Given the description of an element on the screen output the (x, y) to click on. 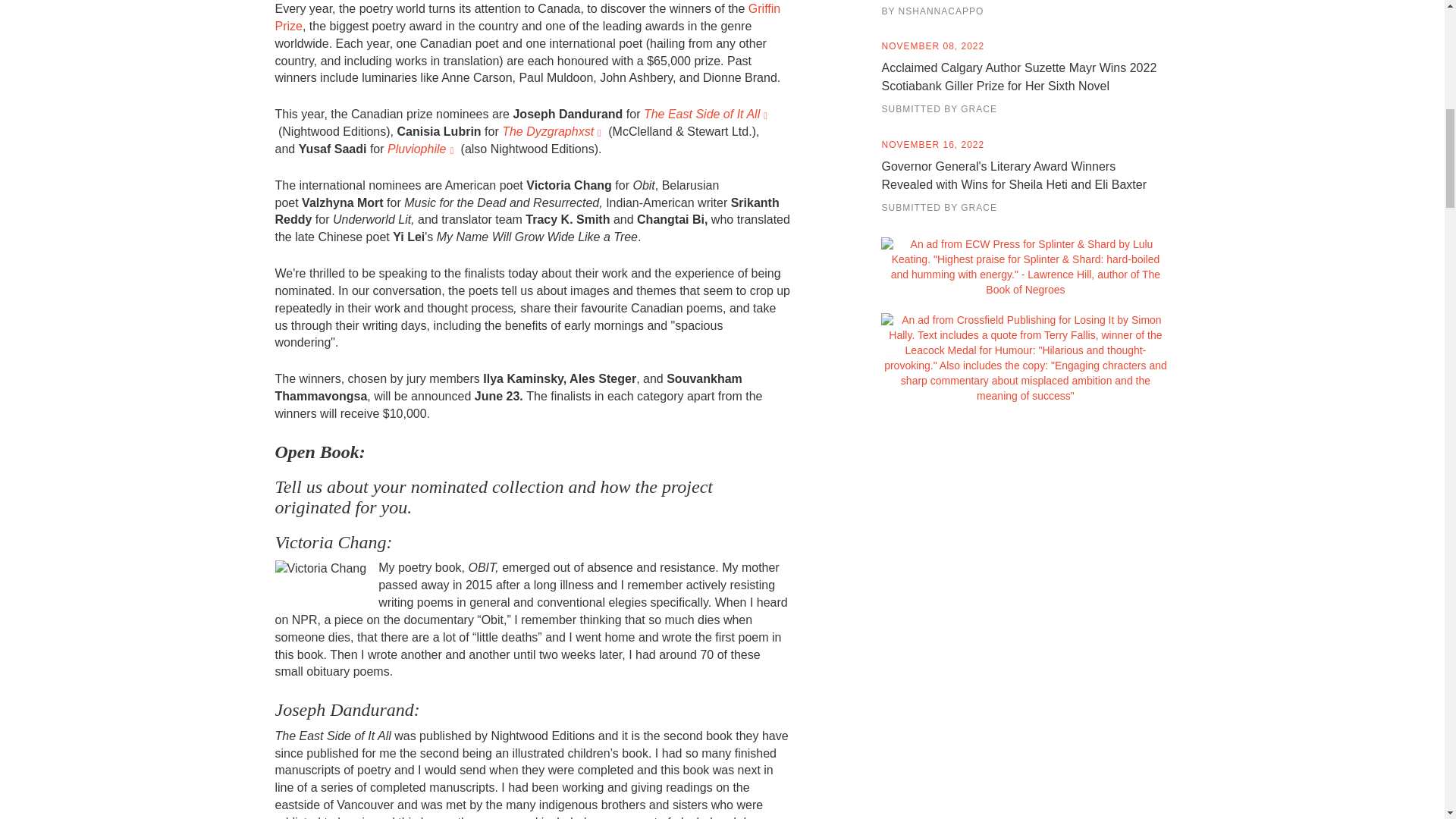
The East Side of It All (707, 113)
Griffin Prize (527, 17)
Victoria Chang (320, 569)
The Dyzgraphxst (553, 131)
Pluviophile (422, 148)
